Given the description of an element on the screen output the (x, y) to click on. 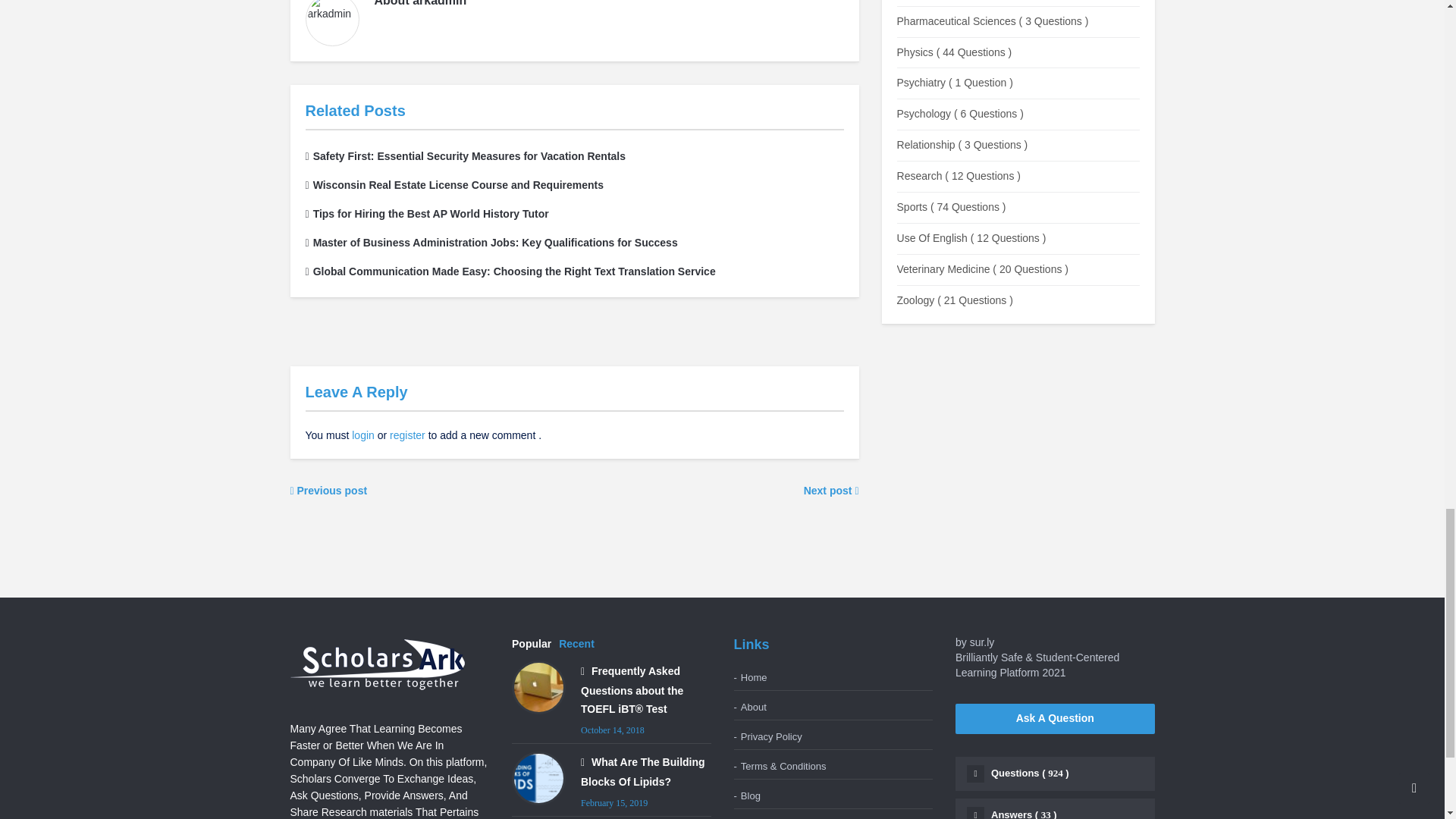
Wisconsin Real Estate License Course and Requirements (454, 184)
Tips for Hiring the Best AP World History Tutor (426, 214)
